Given the description of an element on the screen output the (x, y) to click on. 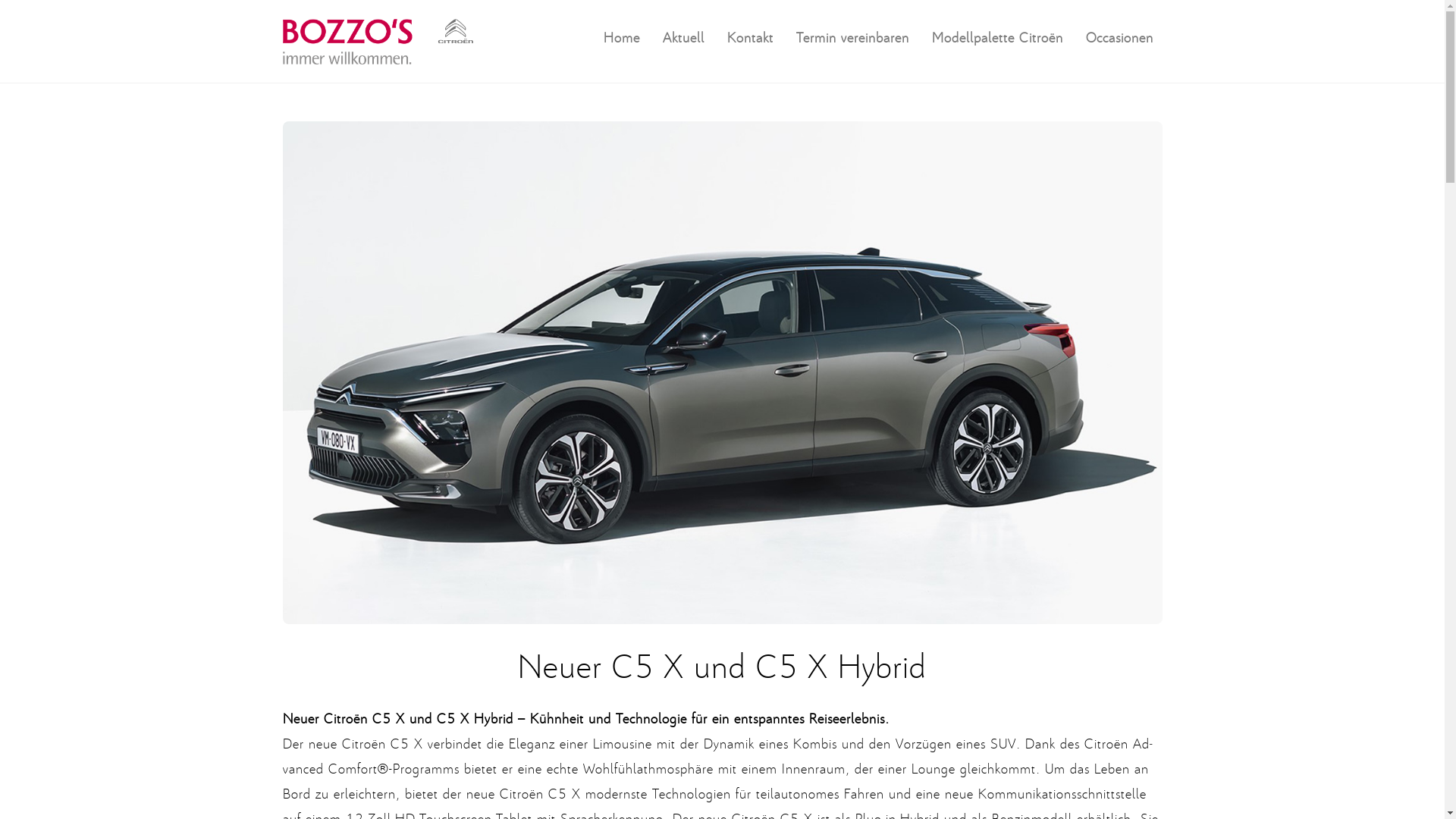
Auto Center Wiedikon Element type: hover (377, 54)
Logo-Bozzos-ACW-Claim-Citroen Element type: hover (377, 41)
Citroen-C5-X-Aussenstudio Element type: hover (721, 372)
Aktuell Element type: text (683, 36)
Neuer C5 X und C5 X Hybrid Element type: text (721, 664)
Home Element type: text (621, 36)
Termin vereinbaren Element type: text (852, 36)
Kontakt Element type: text (749, 36)
Occasionen Element type: text (1119, 36)
